Given the description of an element on the screen output the (x, y) to click on. 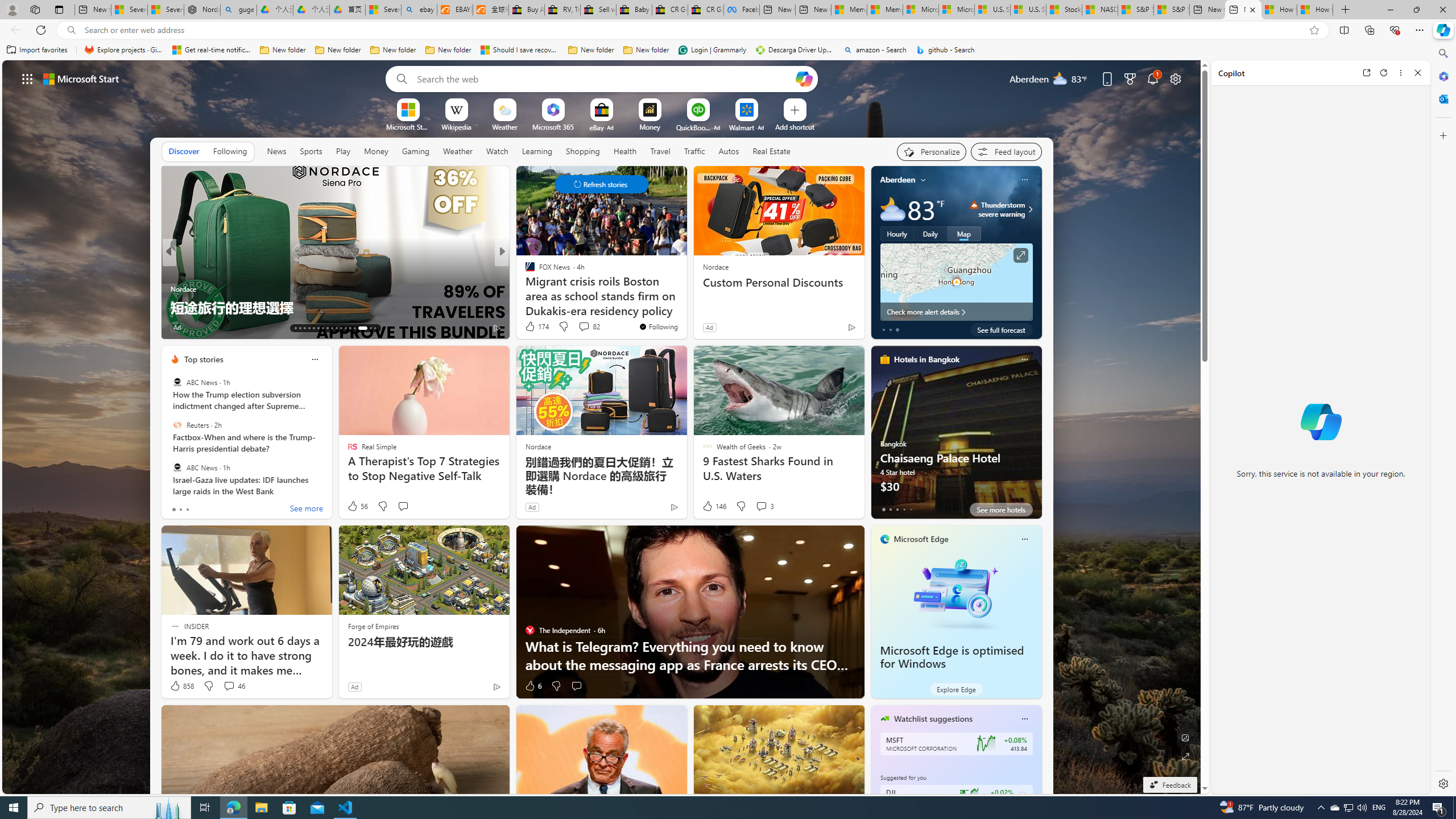
Custom Personal Discounts (778, 282)
AutomationID: tab-17 (313, 328)
How to Use a Monitor With Your Closed Laptop (1315, 9)
Money (375, 151)
Class: control (600, 184)
Keepsake (684, 307)
Thunderstorm - Severe (974, 204)
tab-1 (889, 509)
Microsoft rewards (1129, 78)
Feedback (1169, 784)
Weather (457, 151)
Import favorites (36, 49)
